Given the description of an element on the screen output the (x, y) to click on. 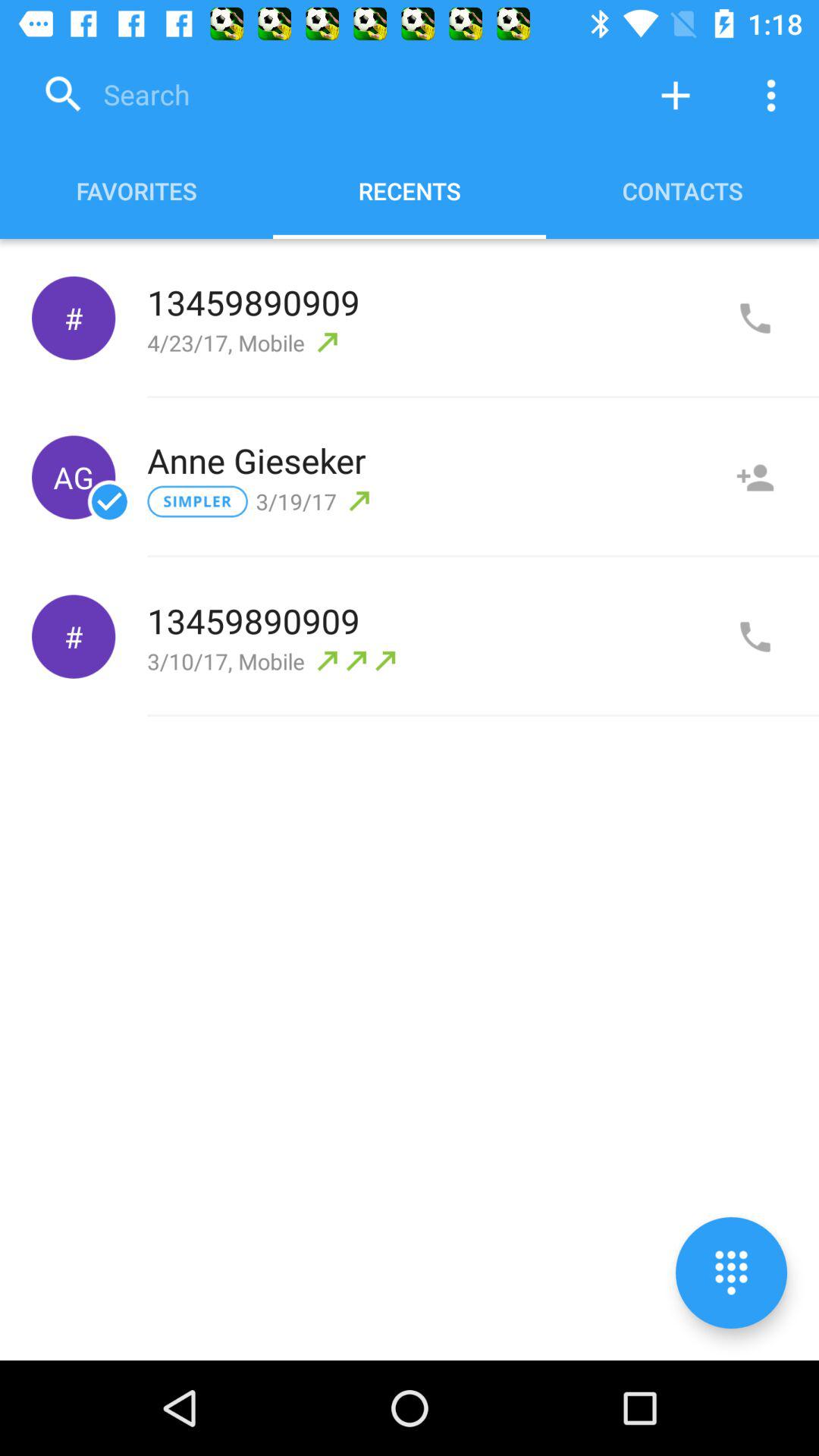
phone call (755, 318)
